Given the description of an element on the screen output the (x, y) to click on. 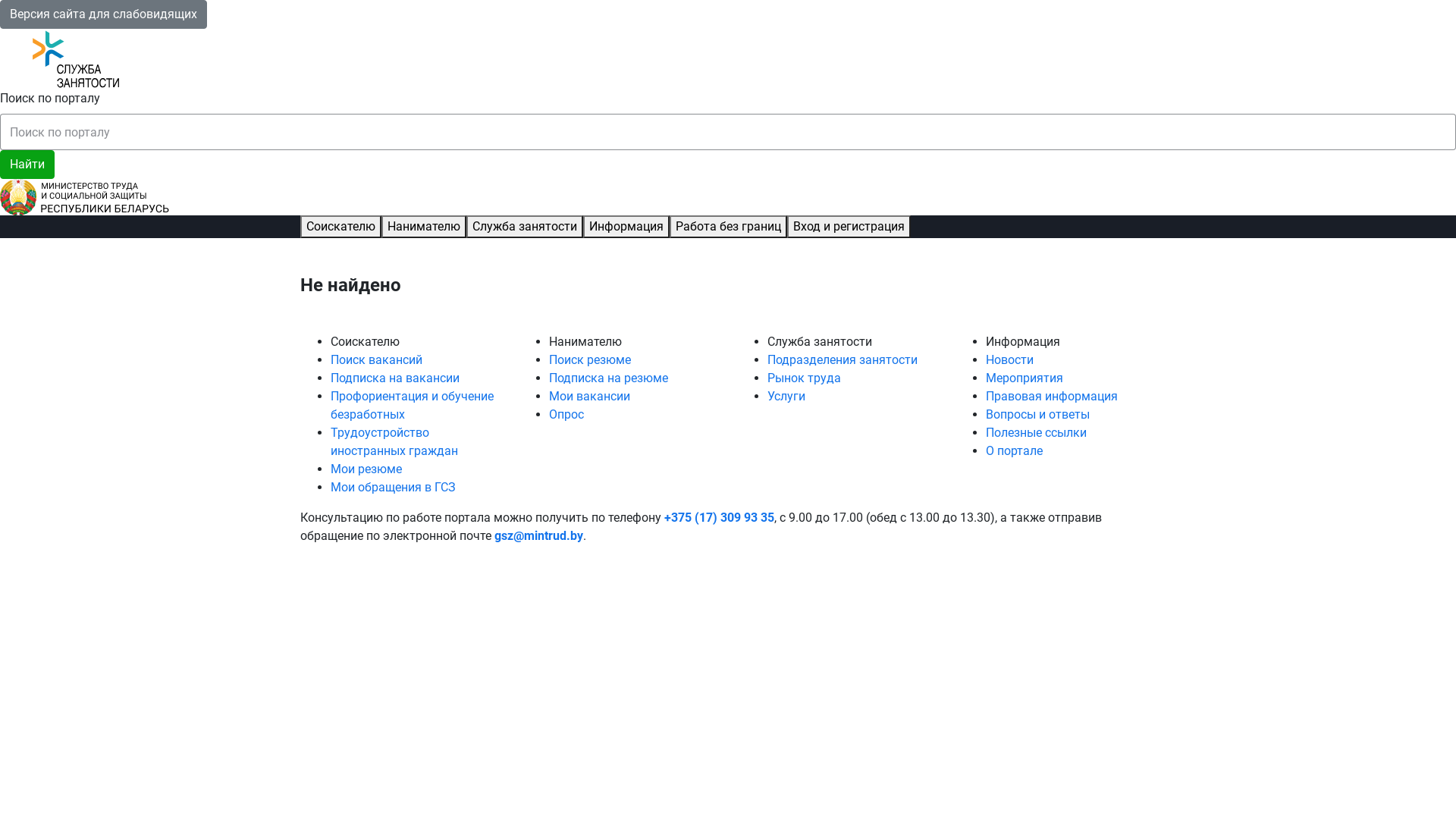
+375 (17) 309 93 35 Element type: text (719, 517)
gsz@mintrud.by Element type: text (538, 535)
